Given the description of an element on the screen output the (x, y) to click on. 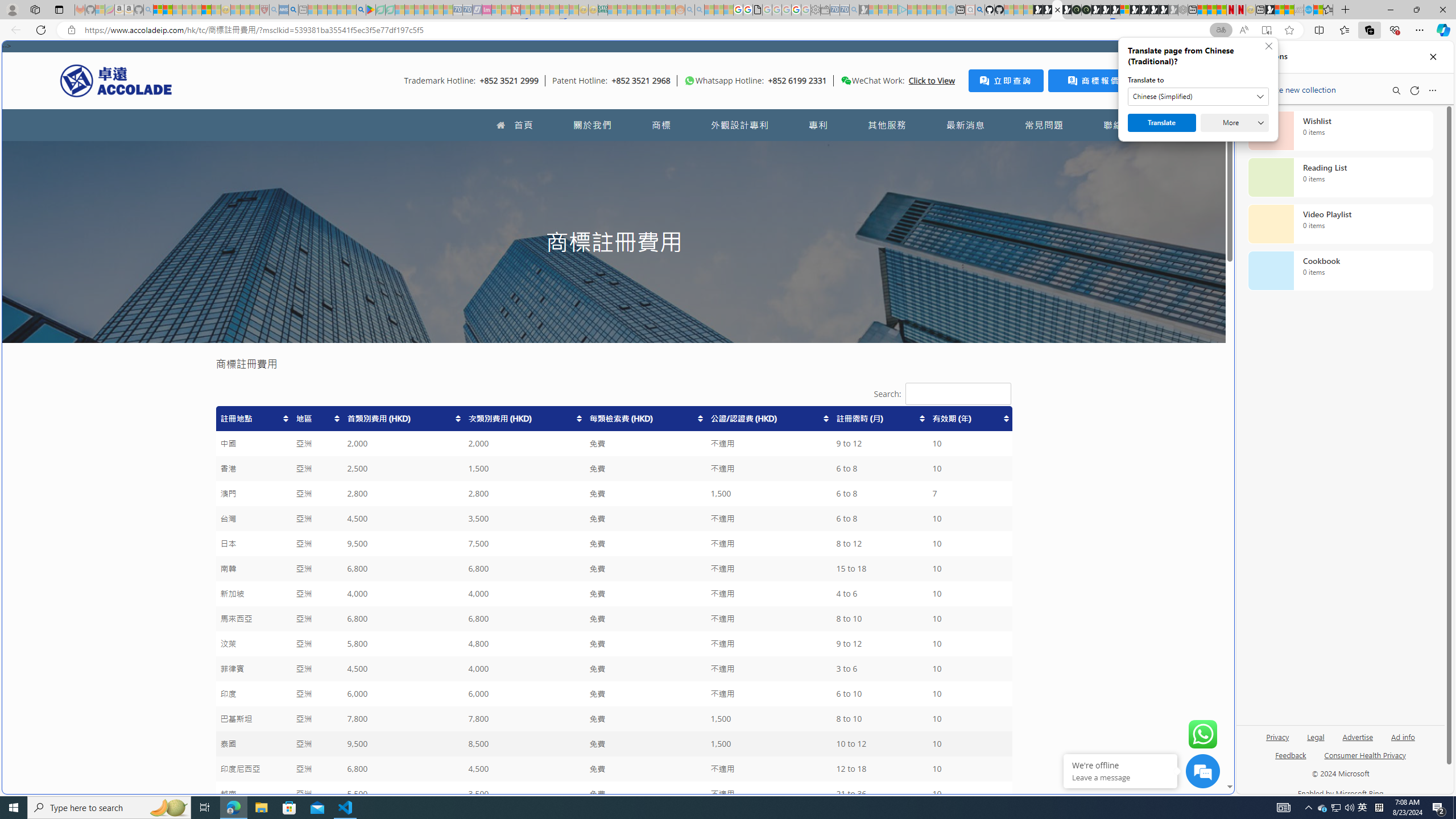
Class: row-5 odd (613, 518)
Bing Real Estate - Home sales and rental listings - Sleeping (853, 9)
utah sues federal government - Search (922, 389)
New tab - Sleeping (303, 9)
DITOGAMES AG Imprint (602, 9)
World - MSN (727, 389)
7,500 (524, 543)
